Given the description of an element on the screen output the (x, y) to click on. 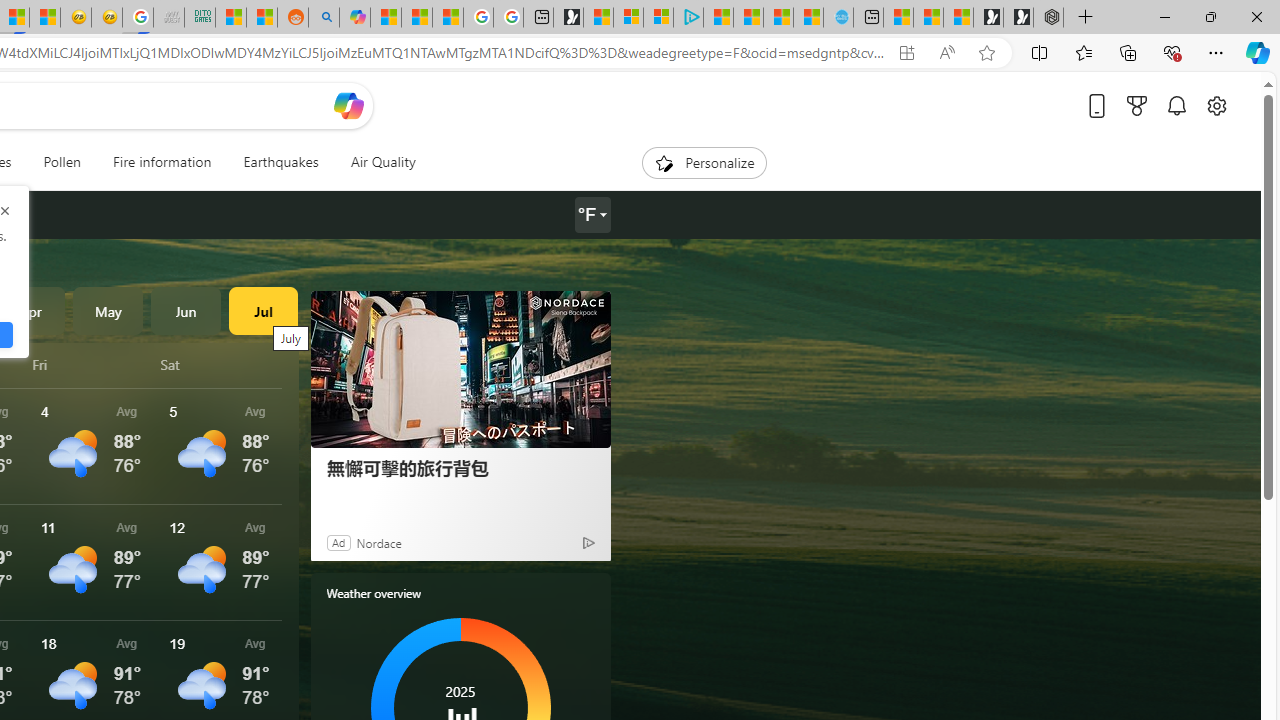
Sat (221, 363)
Open Copilot (347, 105)
Microsoft Copilot in Bing (354, 17)
Earthquakes (280, 162)
May (107, 310)
Microsoft rewards (1137, 105)
